Given the description of an element on the screen output the (x, y) to click on. 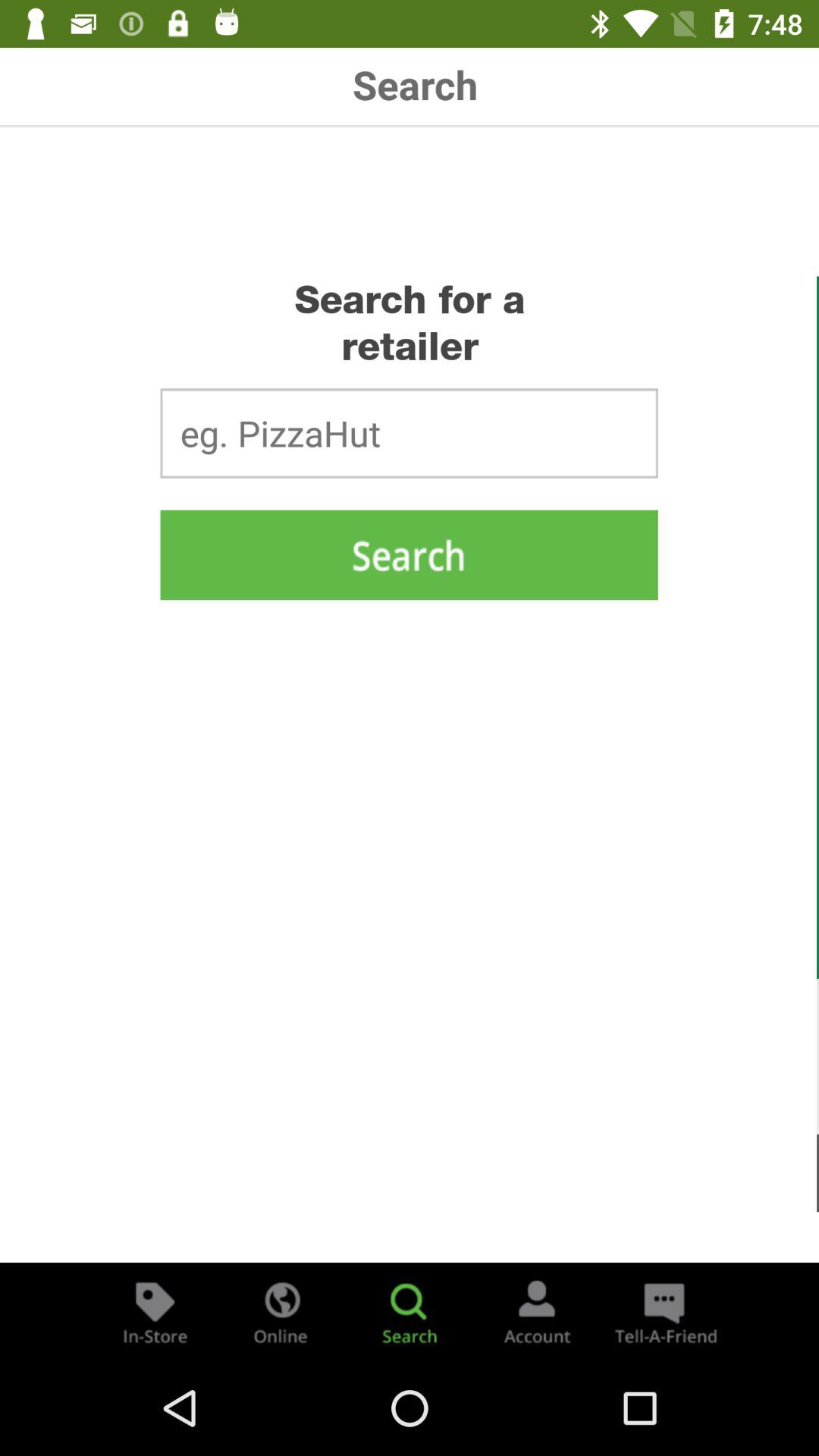
start search (409, 555)
